Given the description of an element on the screen output the (x, y) to click on. 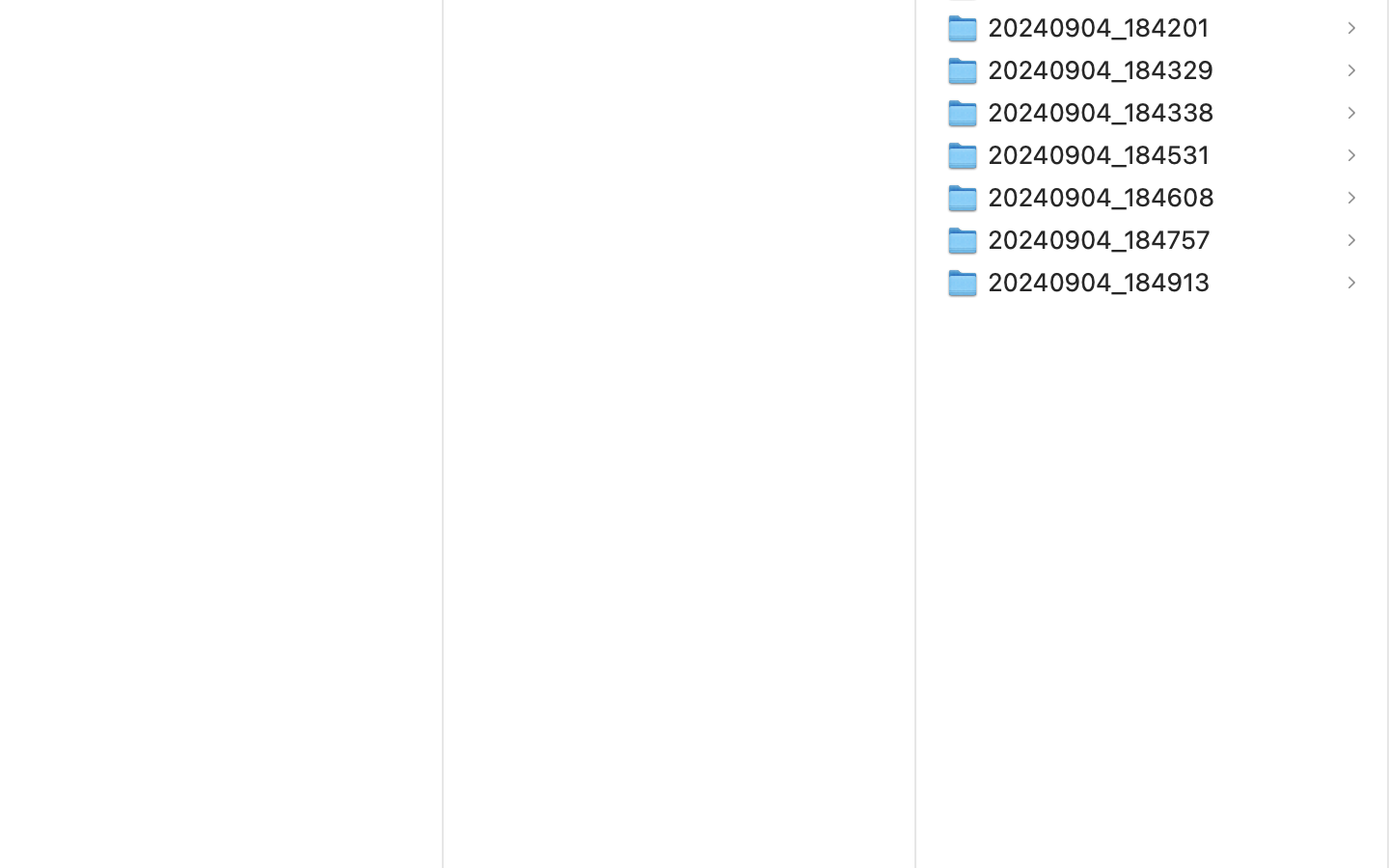
20240904_184338 Element type: AXTextField (1104, 111)
20240904_184531 Element type: AXTextField (1102, 153)
